Given the description of an element on the screen output the (x, y) to click on. 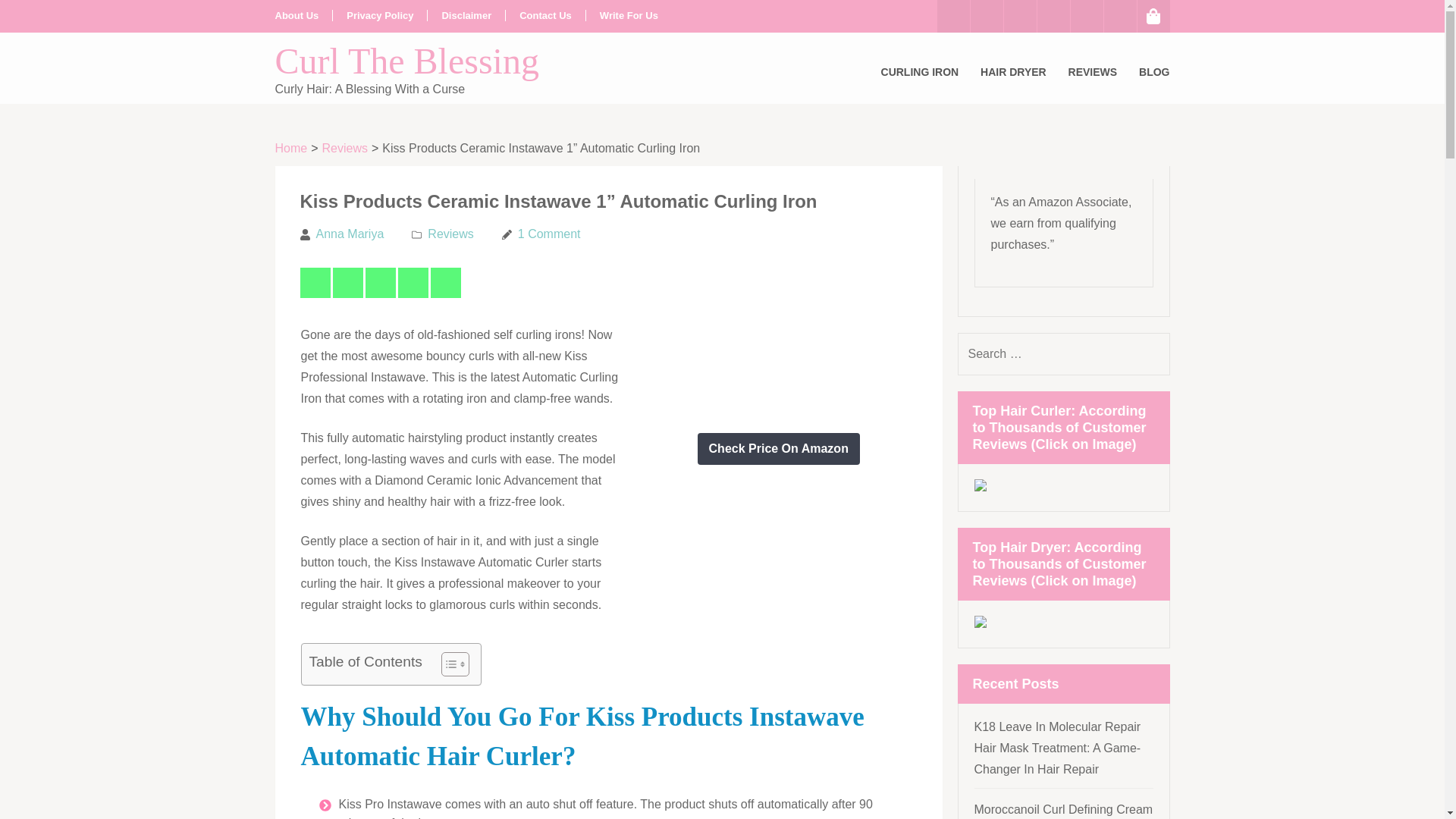
instagram (1020, 16)
Search (1154, 353)
pinterest-square (1053, 16)
youtube (1086, 16)
Disclaimer (466, 15)
Search (1154, 353)
facebook (953, 16)
Contact Us (545, 15)
twitter-square (987, 16)
Privacy Policy (379, 15)
